Given the description of an element on the screen output the (x, y) to click on. 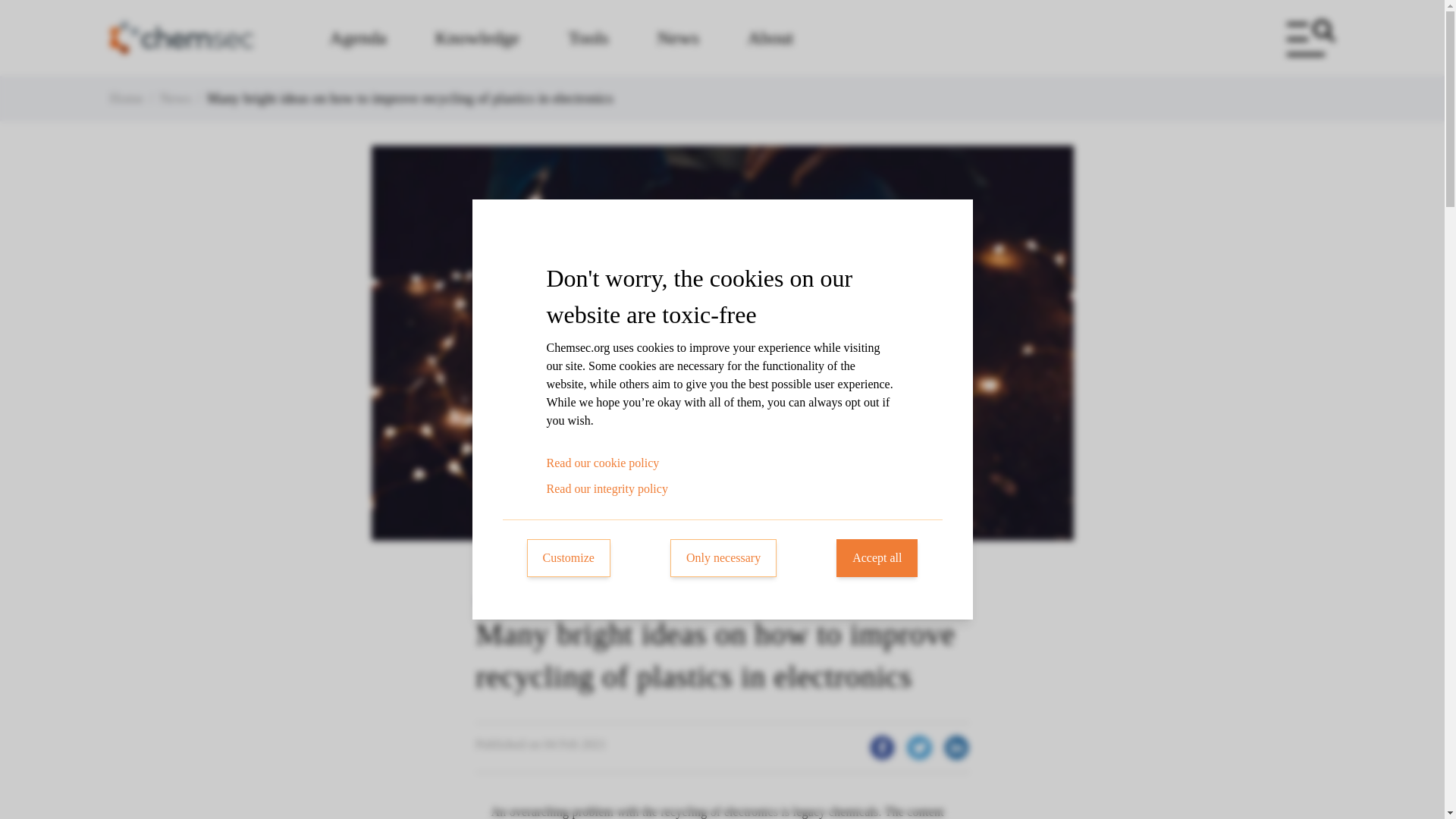
Agenda (357, 37)
About (770, 37)
Accept all (876, 557)
Tools (588, 37)
Customize (567, 557)
News (678, 37)
Only necessary (722, 557)
Knowledge (477, 37)
